Given the description of an element on the screen output the (x, y) to click on. 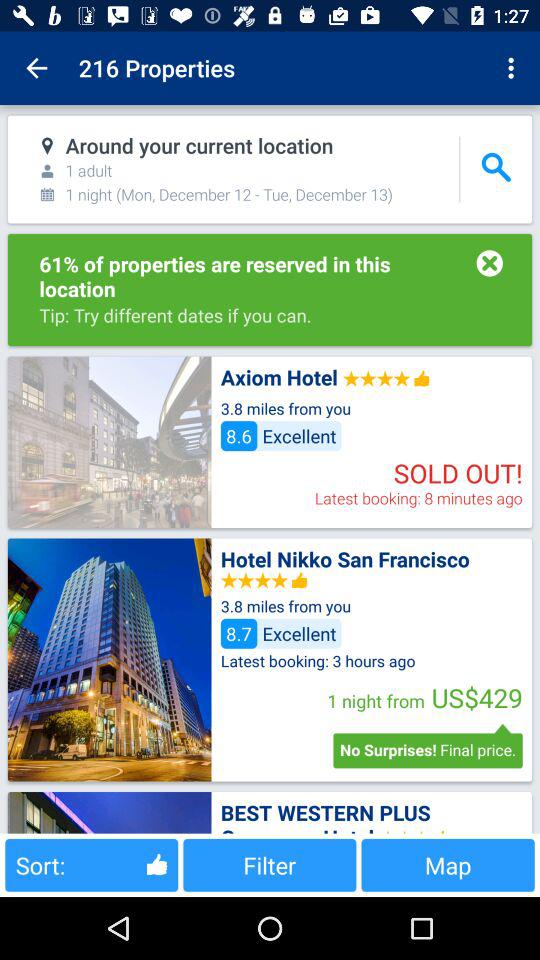
select item (109, 659)
